Given the description of an element on the screen output the (x, y) to click on. 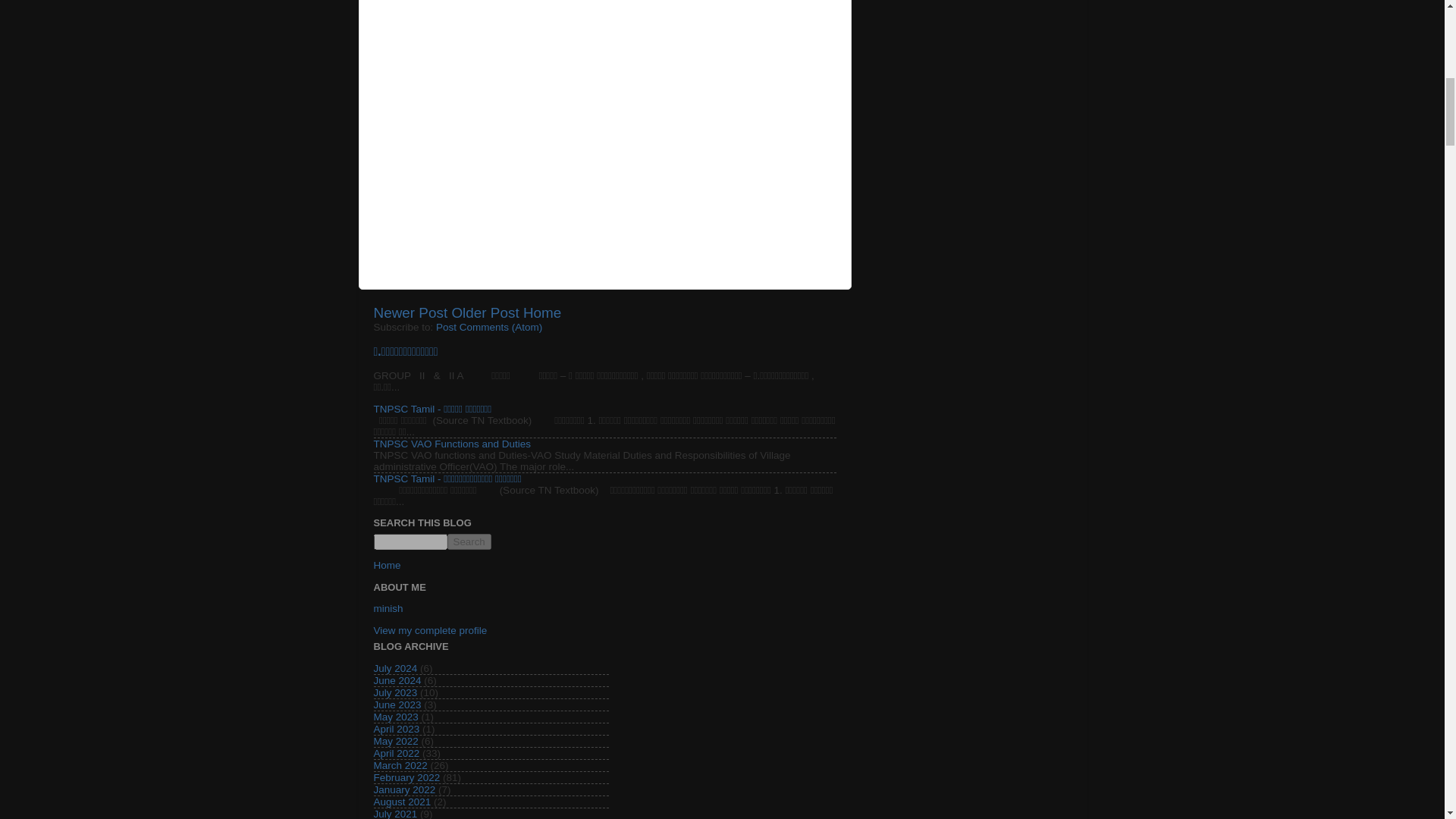
Search (469, 541)
minish (387, 608)
search (469, 541)
April 2022 (395, 753)
February 2022 (405, 777)
TNPSC VAO Functions and Duties (451, 443)
search (409, 541)
July 2024 (394, 668)
View my complete profile (429, 630)
May 2023 (394, 716)
Search (469, 541)
Search (469, 541)
July 2023 (394, 692)
June 2024 (396, 680)
Newer Post (409, 312)
